Given the description of an element on the screen output the (x, y) to click on. 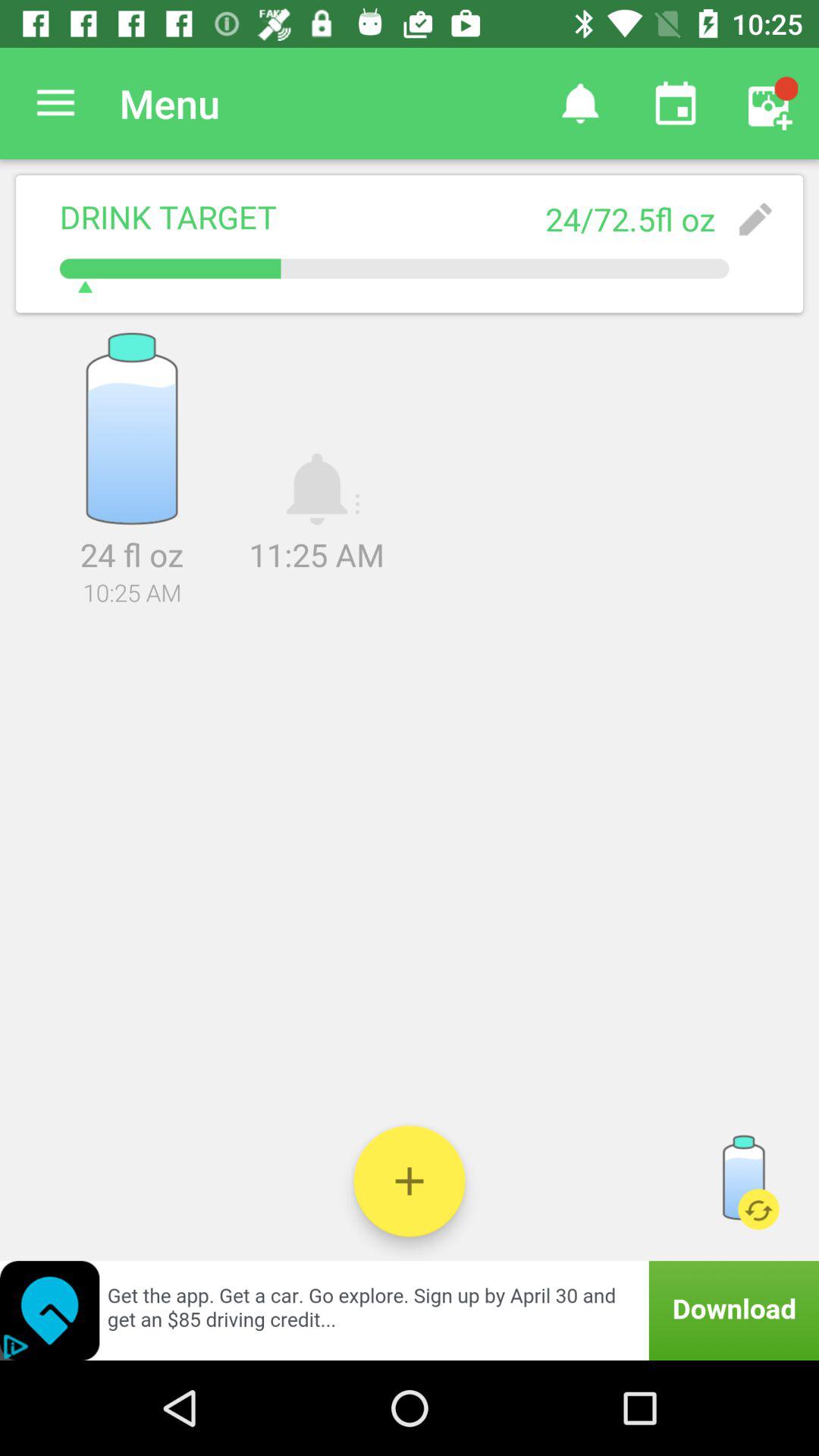
refill water bottle (743, 1181)
